Given the description of an element on the screen output the (x, y) to click on. 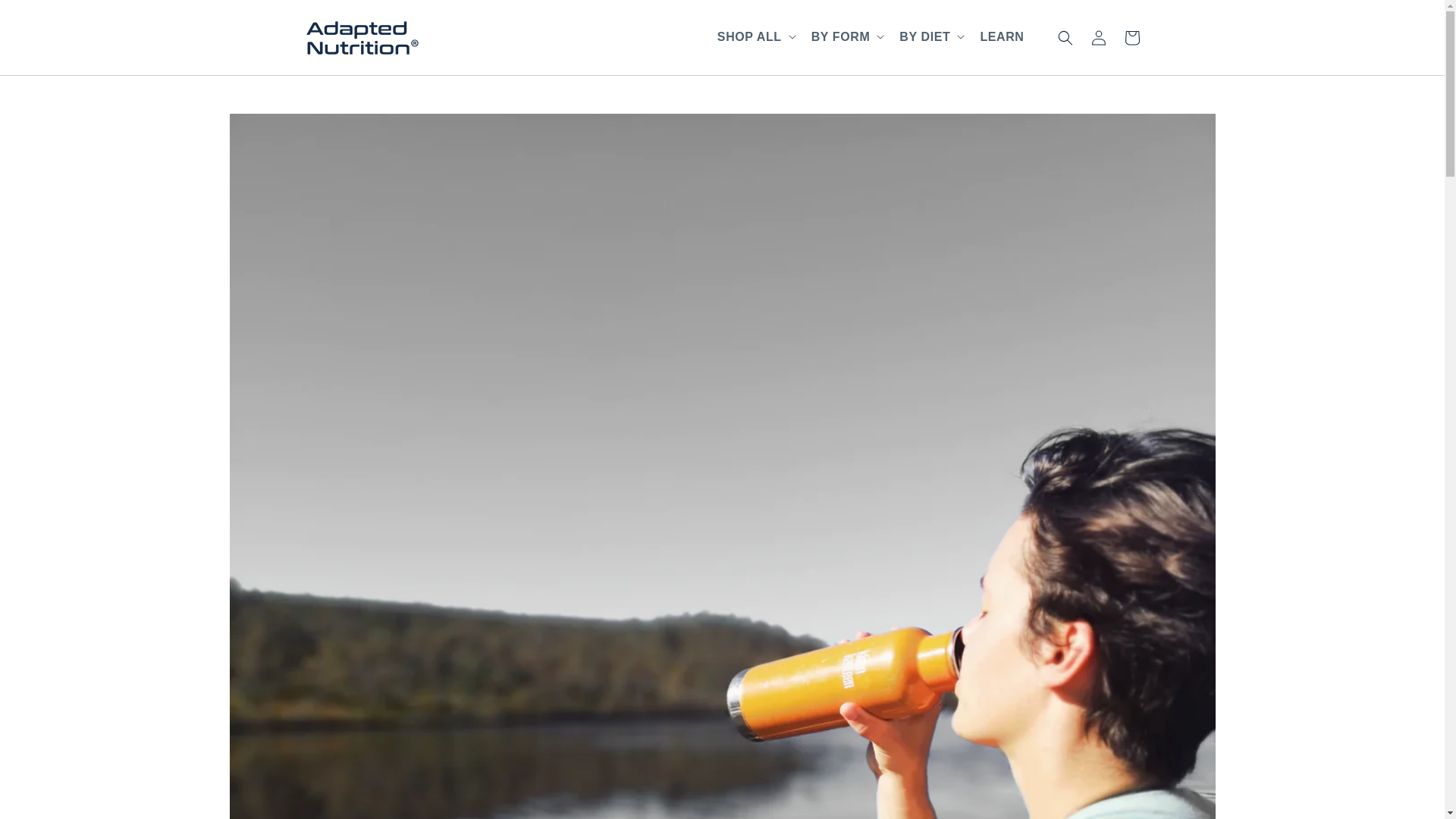
LEARN (1001, 37)
Cart (1131, 37)
Skip to content (45, 16)
Log in (1098, 37)
